Given the description of an element on the screen output the (x, y) to click on. 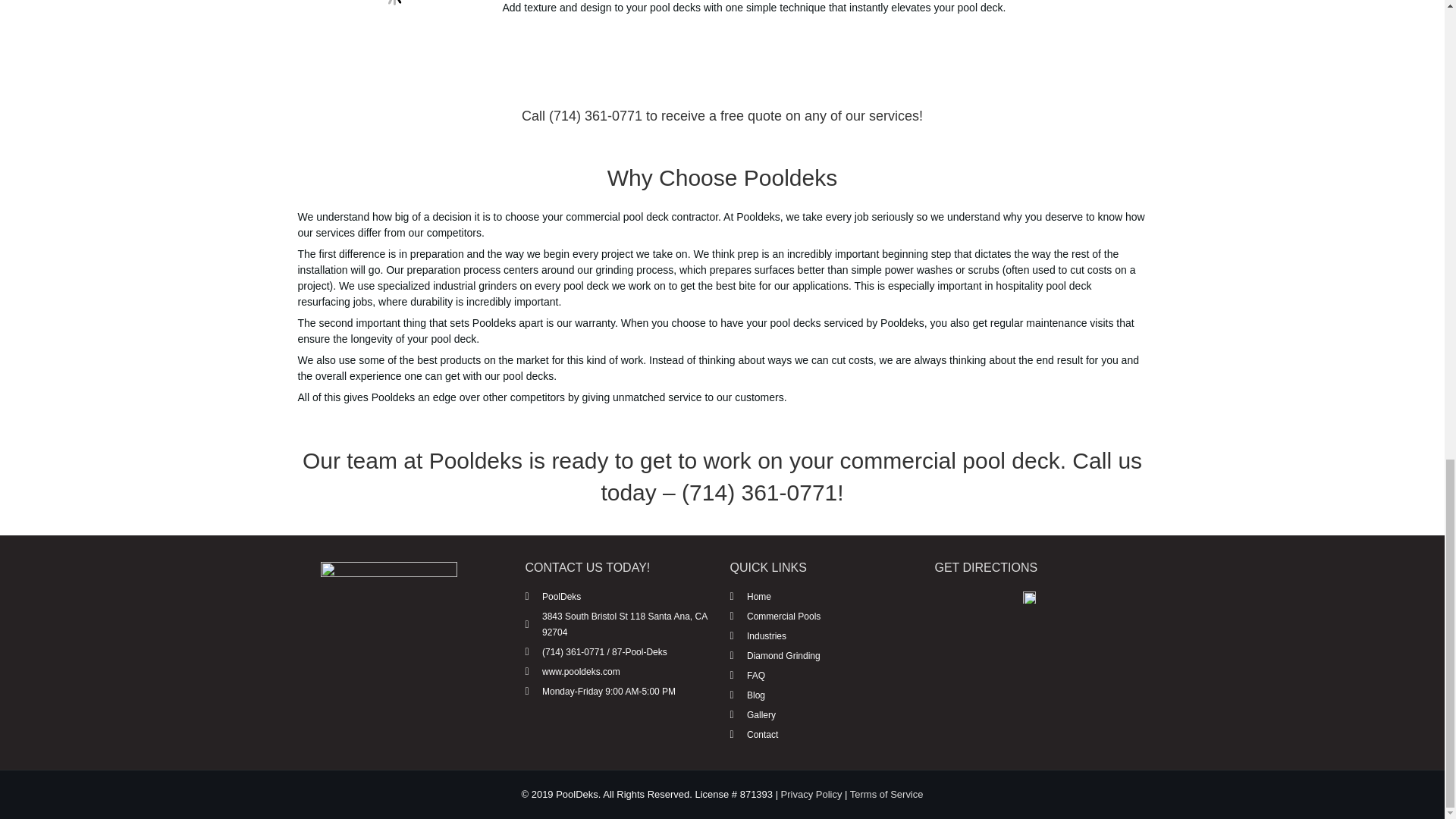
Terms of Service (886, 794)
Privacy Policy (811, 794)
